Given the description of an element on the screen output the (x, y) to click on. 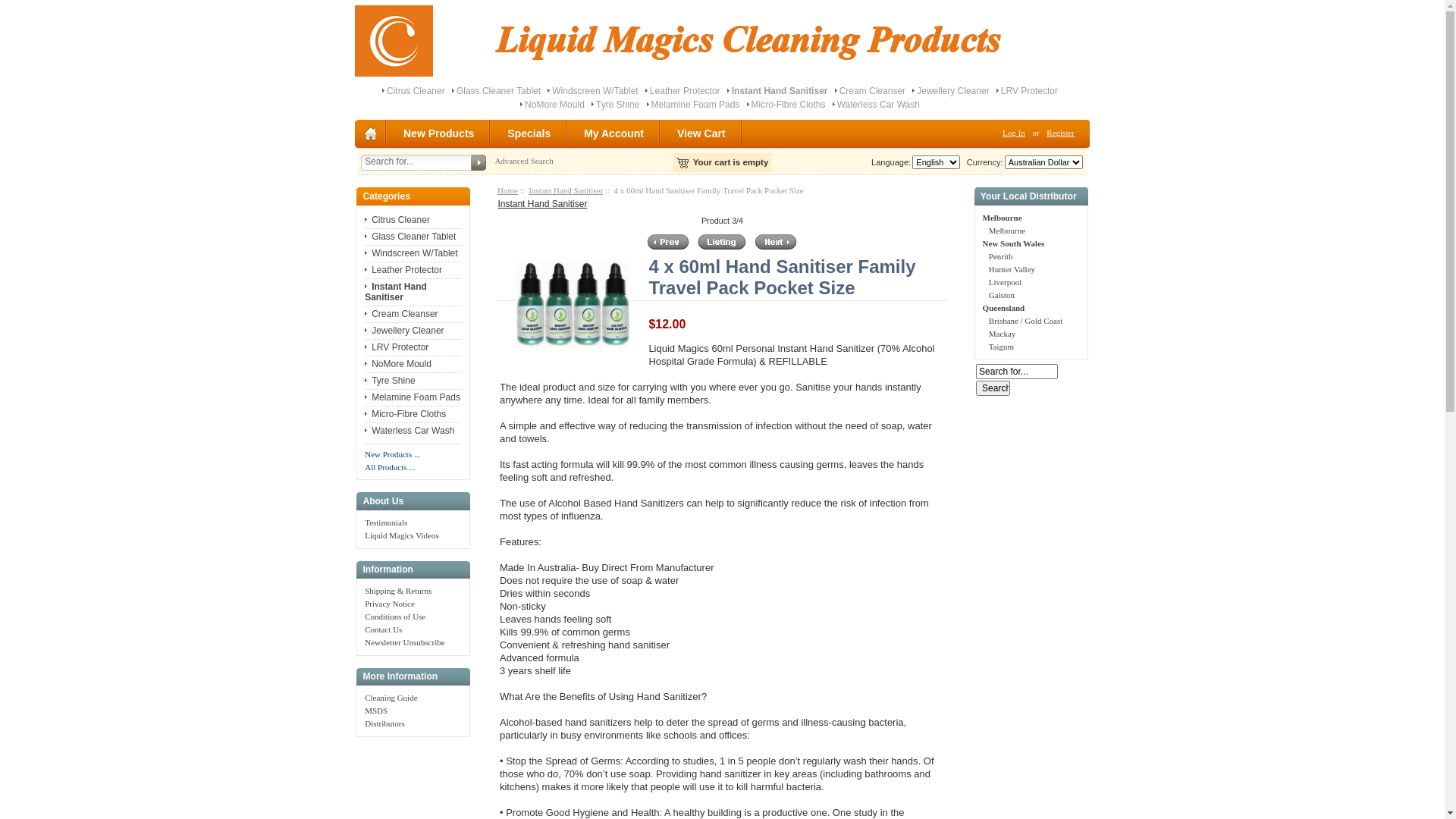
Taigum Element type: text (1000, 346)
Melamine Foam Pads Element type: text (412, 397)
Cream Cleanser Element type: text (400, 313)
Tyre Shine Element type: text (389, 380)
Leather Protector Element type: text (684, 90)
 Next  Element type: hover (775, 241)
Liverpool Element type: text (1004, 281)
Specials Element type: text (529, 133)
Micro-Fibre Cloths Element type: text (788, 104)
Windscreen W/Tablet Element type: text (594, 90)
Melamine Foam Pads Element type: text (695, 104)
Register Element type: text (1060, 132)
Brisbane / Gold Coast Element type: text (1025, 320)
New Products ... Element type: text (392, 453)
Advanced Search Element type: text (523, 160)
 Previous  Element type: hover (667, 241)
Jewellery Cleaner Element type: text (403, 330)
Waterless Car Wash Element type: text (409, 430)
NoMore Mould Element type: text (397, 363)
Distributors Element type: text (384, 723)
Instant Hand Sanitiser Element type: text (565, 189)
Instant Hand Sanitiser Element type: text (395, 291)
NoMore Mould Element type: text (554, 104)
Shipping & Returns Element type: text (397, 590)
Citrus Cleaner Element type: text (396, 219)
LRV Protector Element type: text (1029, 90)
MSDS Element type: text (375, 710)
Windscreen W/Tablet Element type: text (410, 252)
Contact Us Element type: text (382, 628)
Glass Cleaner Tablet Element type: text (498, 90)
My Account Element type: text (614, 133)
All Products ... Element type: text (389, 466)
Conditions of Use Element type: text (394, 616)
New Products Element type: text (439, 133)
Newsletter Unsubscribe Element type: text (404, 641)
Jewellery Cleaner Element type: text (952, 90)
Home Element type: text (507, 189)
Cleaning Guide Element type: text (390, 697)
Search Element type: text (992, 387)
Log In Element type: text (1013, 132)
Citrus Cleaner Element type: text (415, 90)
Testimonials Element type: text (385, 522)
View Cart Element type: text (701, 133)
LRV Protector Element type: text (396, 347)
Melbourne Element type: text (1006, 230)
Instant Hand Sanitiser Element type: text (541, 203)
Penrith Element type: text (1000, 255)
Mackay Element type: text (1001, 333)
Micro-Fibre Cloths Element type: text (404, 413)
Privacy Notice Element type: text (389, 603)
Cream Cleanser Element type: text (872, 90)
Tyre Shine Element type: text (617, 104)
Waterless Car Wash Element type: text (878, 104)
Galston Element type: text (1001, 294)
Glass Cleaner Tablet Element type: text (409, 236)
Liquid Magics Videos Element type: text (401, 534)
Instant Hand Sanitiser Element type: text (779, 90)
Hunter Valley Element type: text (1011, 268)
 Return to the Product List  Element type: hover (721, 241)
Leather Protector Element type: text (403, 269)
